Given the description of an element on the screen output the (x, y) to click on. 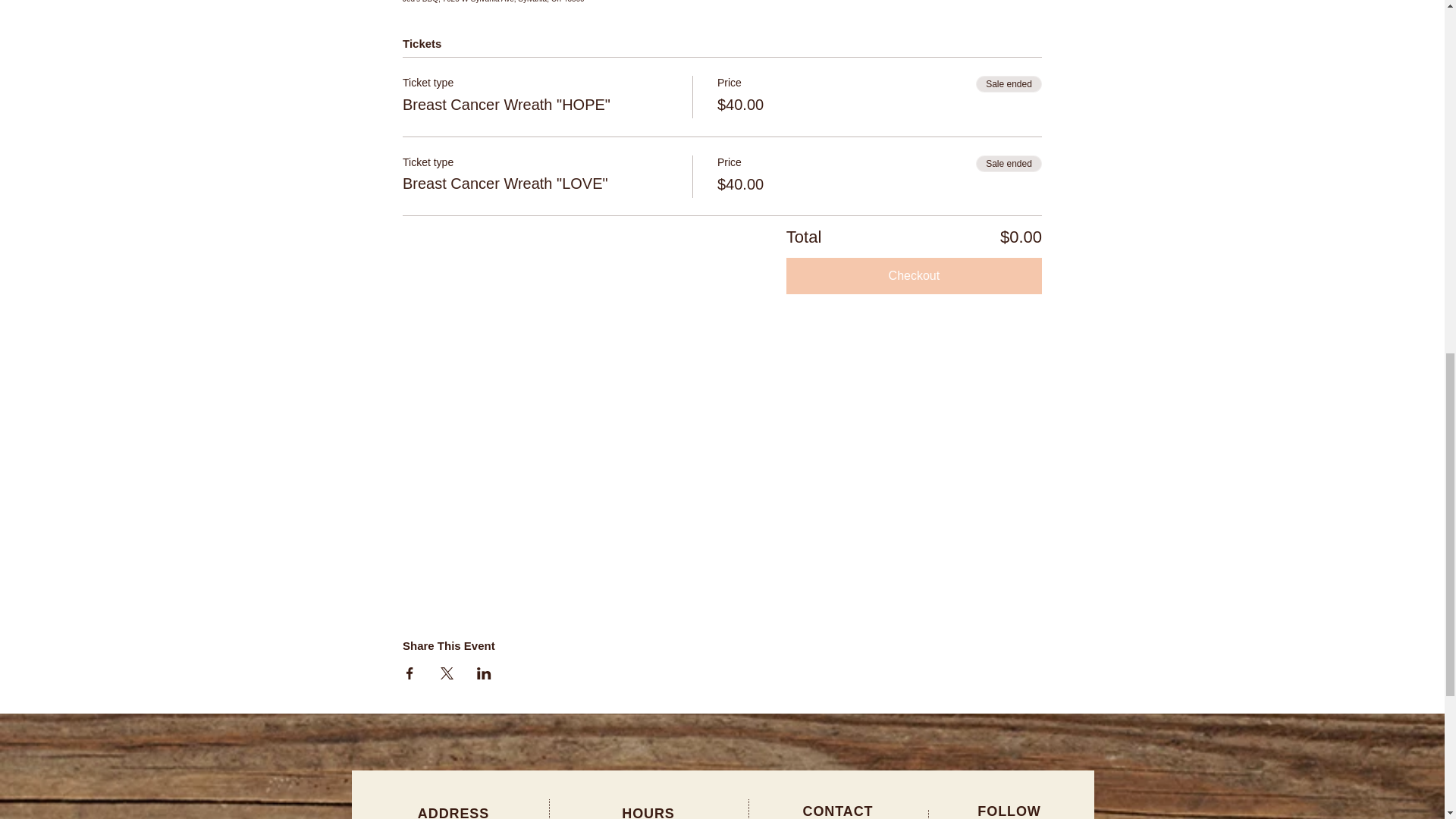
Checkout (914, 275)
